Given the description of an element on the screen output the (x, y) to click on. 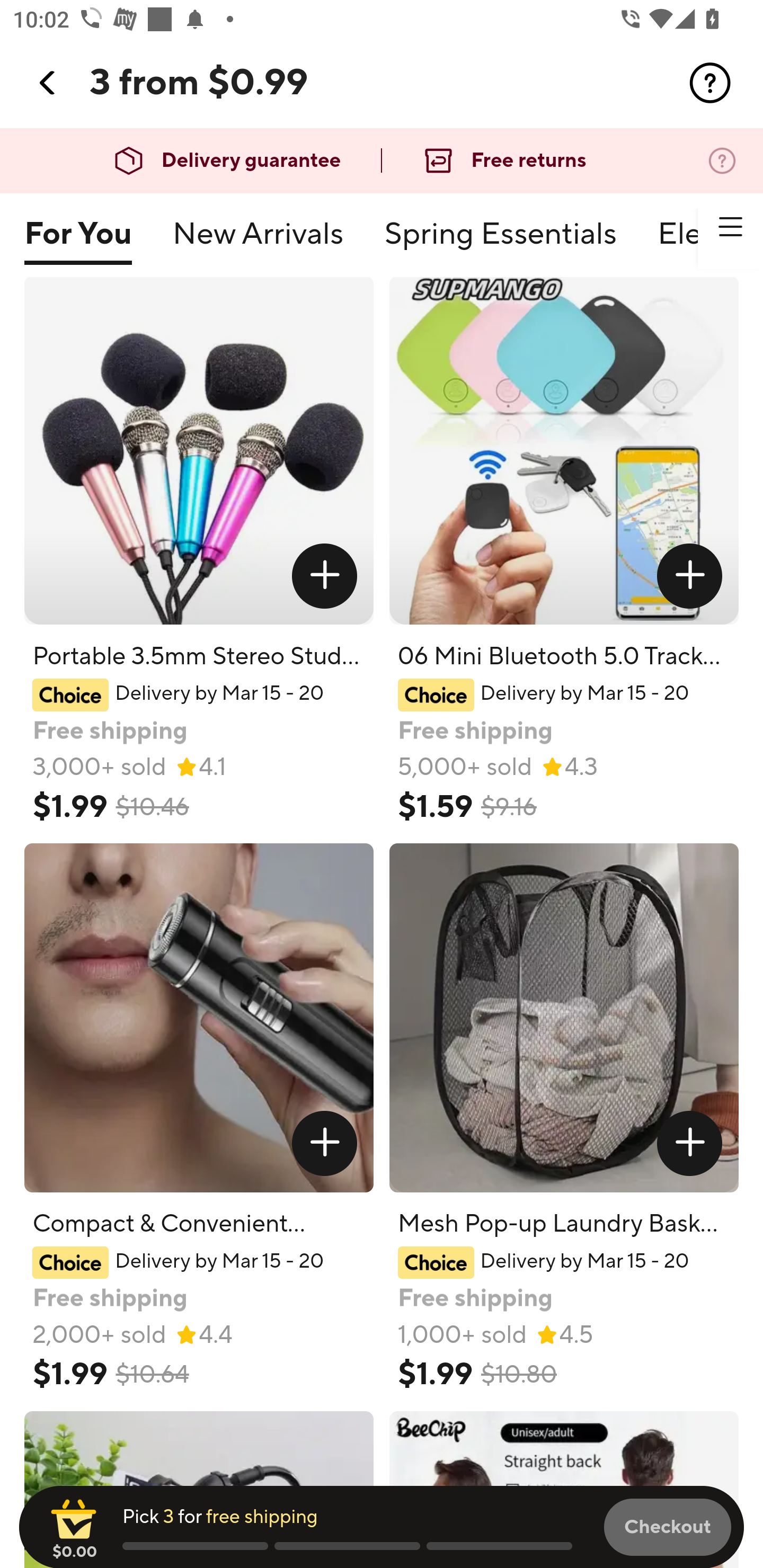
 (710, 82)
 (48, 82)
 (730, 226)
For You (77, 242)
New Arrivals (257, 242)
Spring Essentials (500, 242)
 (323, 575)
 (689, 575)
 (323, 1143)
 (689, 1143)
